Given the description of an element on the screen output the (x, y) to click on. 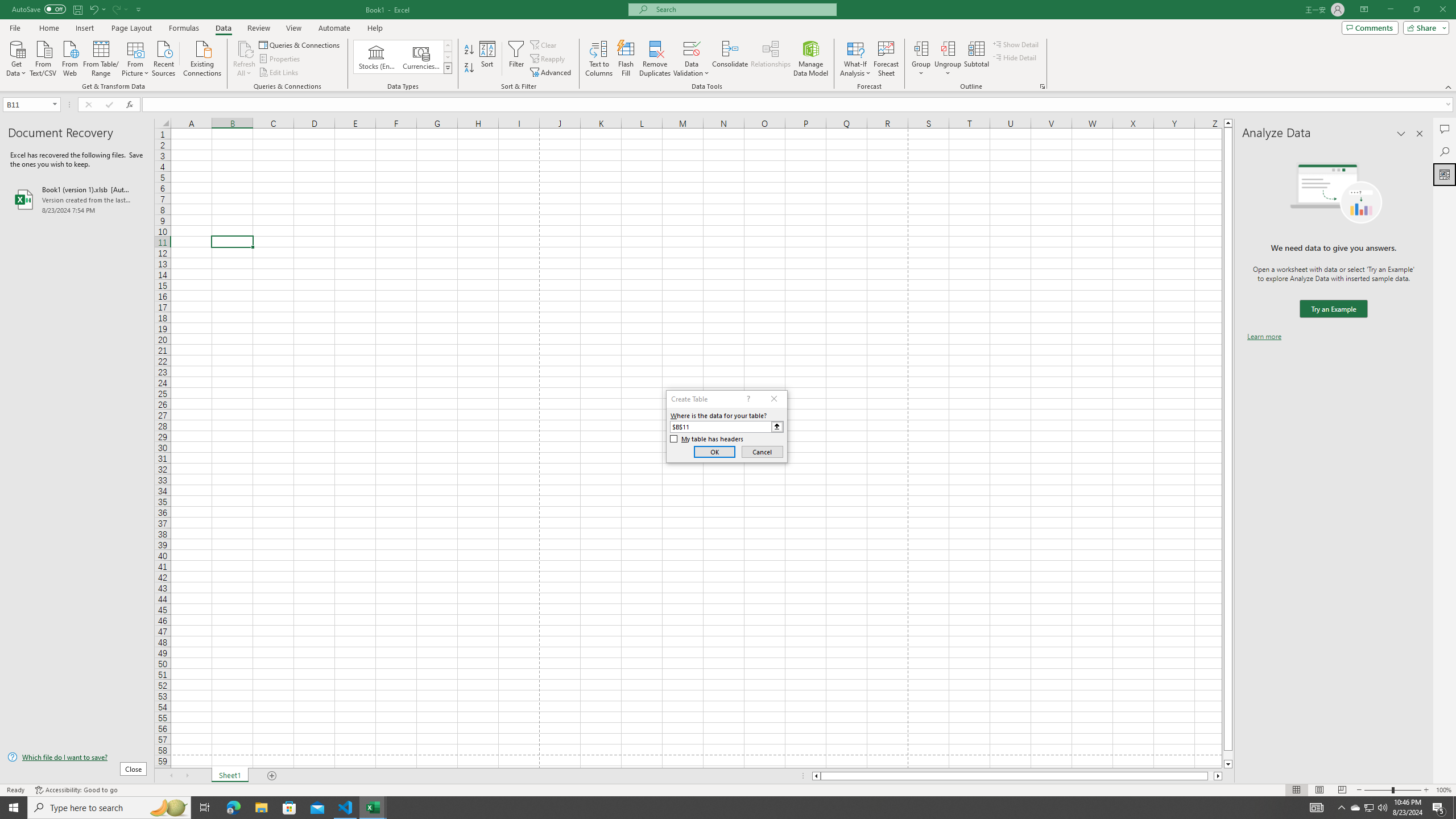
Group and Outline Settings (1042, 85)
From Table/Range (100, 57)
Recent Sources (163, 57)
Microsoft search (742, 9)
Close (1442, 9)
Close pane (1419, 133)
Ribbon Display Options (1364, 9)
Page Layout (131, 28)
AutomationID: ConvertToLinkedEntity (403, 56)
What-If Analysis (855, 58)
Existing Connections (202, 57)
Manage Data Model (810, 58)
Comments (1369, 27)
Normal (1296, 790)
Class: NetUIImage (447, 68)
